Given the description of an element on the screen output the (x, y) to click on. 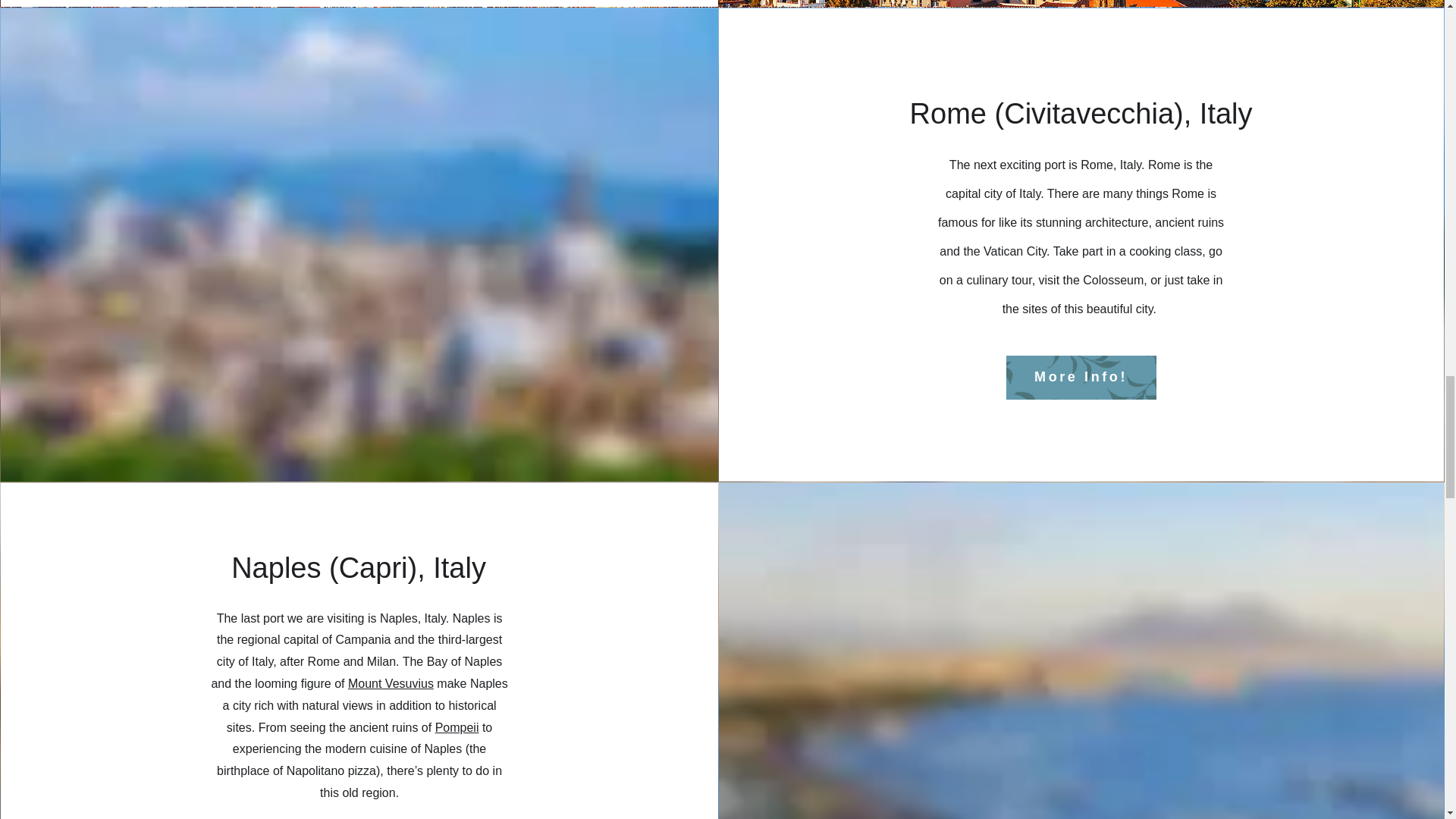
Pompeii (457, 727)
Mount Vesuvius (390, 683)
More Info! (1081, 377)
